Given the description of an element on the screen output the (x, y) to click on. 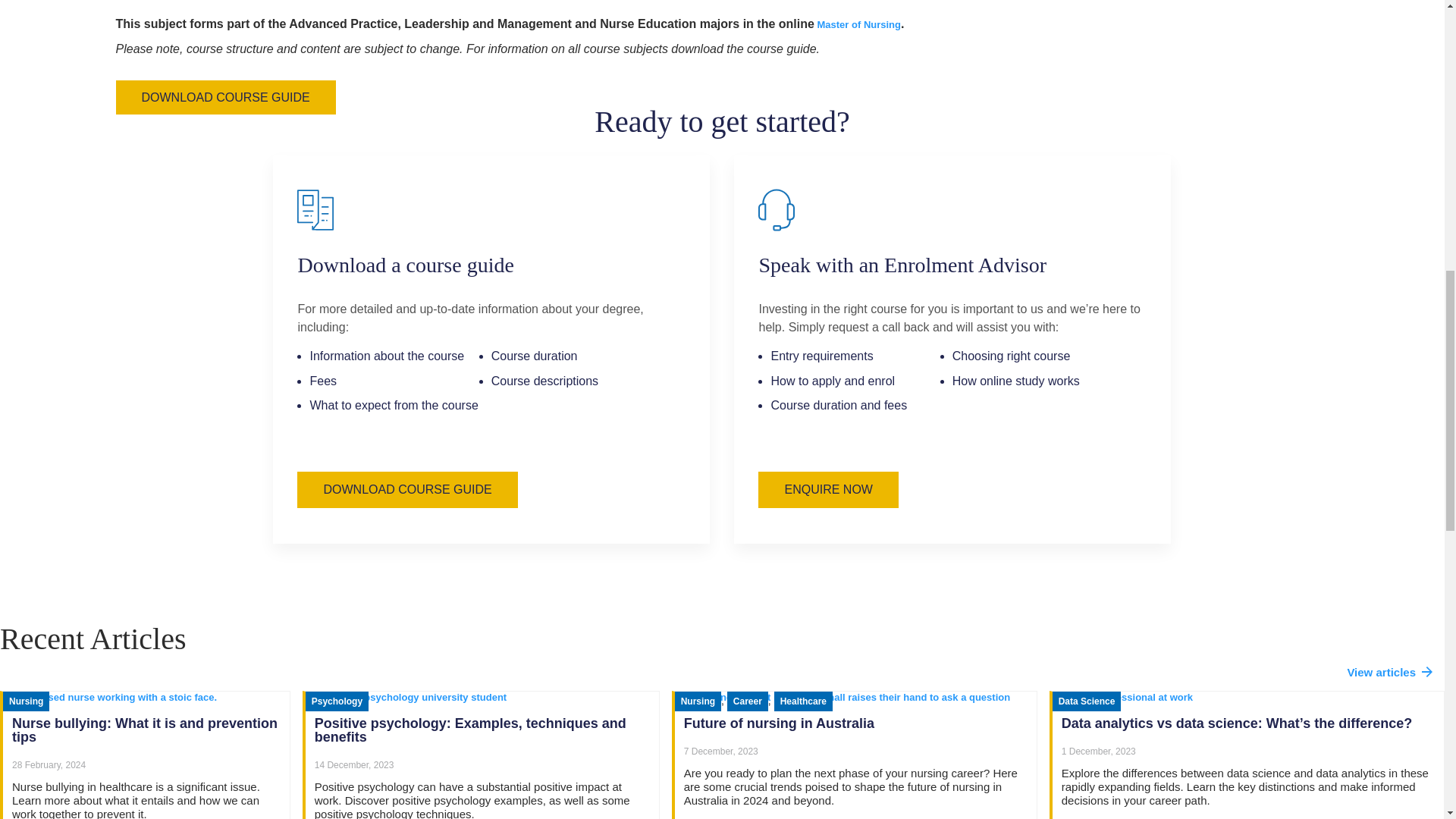
Psychology (336, 701)
 Master of Nursing (857, 24)
Positive psychology: Examples, techniques and benefits (470, 729)
Nurse bullying: What it is and prevention tips (144, 729)
DOWNLOAD COURSE GUIDE (224, 97)
ENQUIRE NOW (828, 489)
View articles (1389, 672)
Nursing (25, 701)
DOWNLOAD COURSE GUIDE (406, 489)
